Given the description of an element on the screen output the (x, y) to click on. 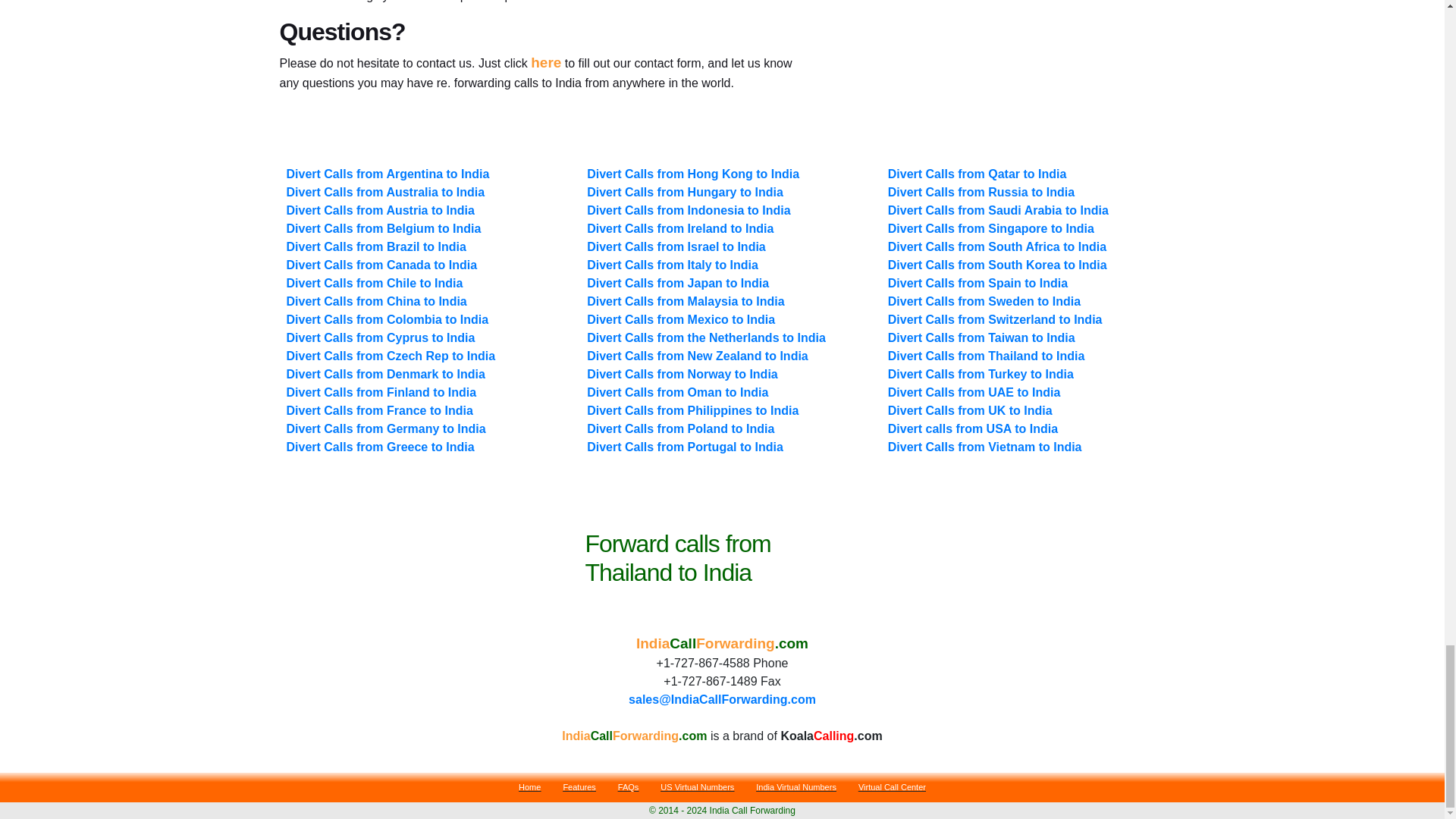
Divert Calls from Hungary to India (684, 192)
Divert Calls from Cyprus to India (381, 337)
Divert Calls from Denmark to India (385, 373)
Divert Calls from Australia to India (385, 192)
Divert Calls from Greece to India (380, 446)
Divert Calls from Colombia to India (387, 318)
here (545, 62)
Divert Calls from Hong Kong to India (692, 173)
Divert Calls from Austria to India (380, 210)
Divert Calls from Finland to India (381, 391)
Divert Calls from France to India (379, 410)
Divert Calls from Canada to India (381, 264)
Divert Calls from Czech Rep to India (391, 355)
Divert Calls from Germany to India (386, 428)
Divert Calls from China to India  (378, 300)
